Given the description of an element on the screen output the (x, y) to click on. 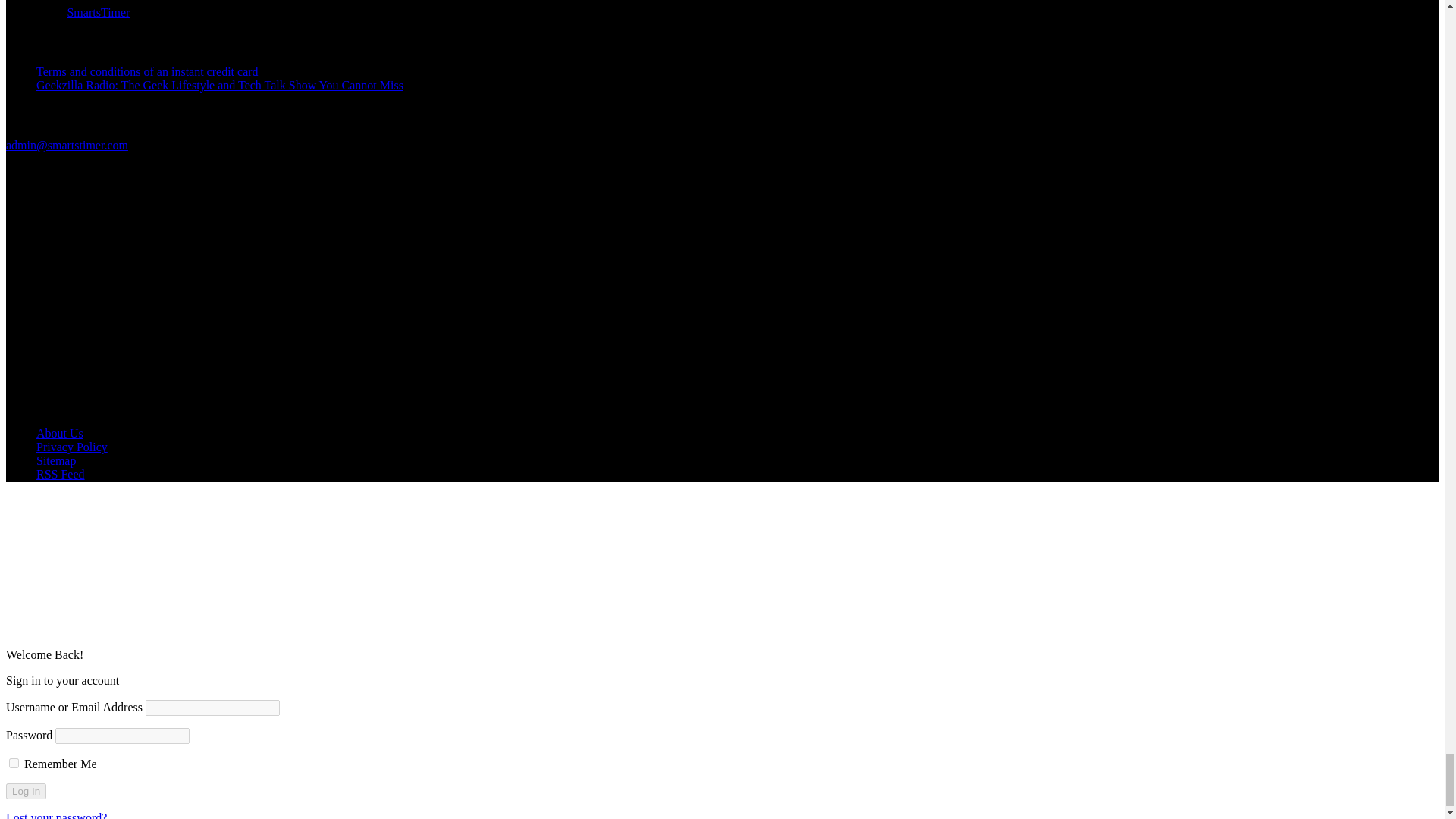
Log In (25, 790)
forever (13, 763)
